Given the description of an element on the screen output the (x, y) to click on. 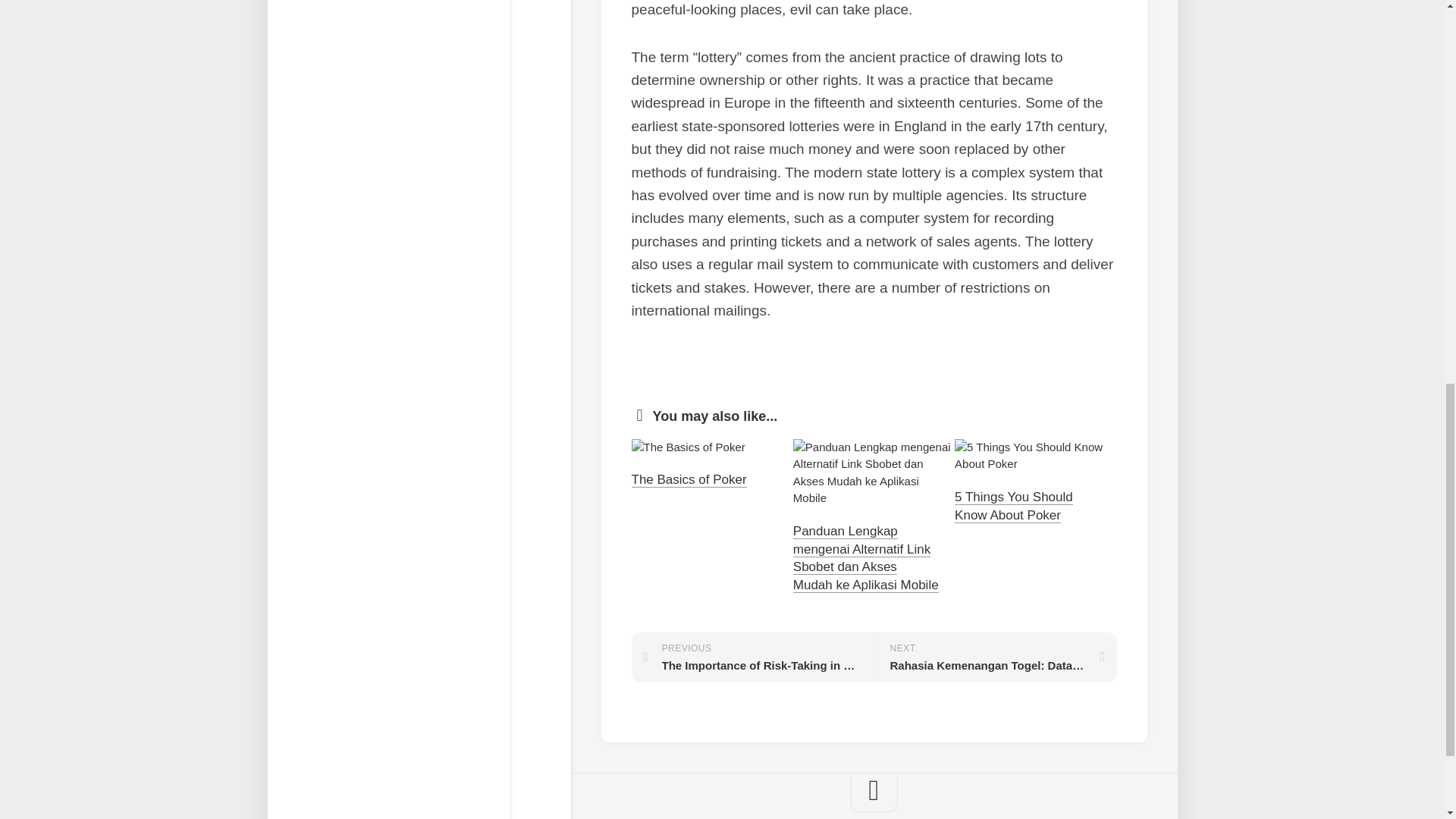
The Basics of Poker (687, 479)
5 Things You Should Know About Poker (751, 656)
